Given the description of an element on the screen output the (x, y) to click on. 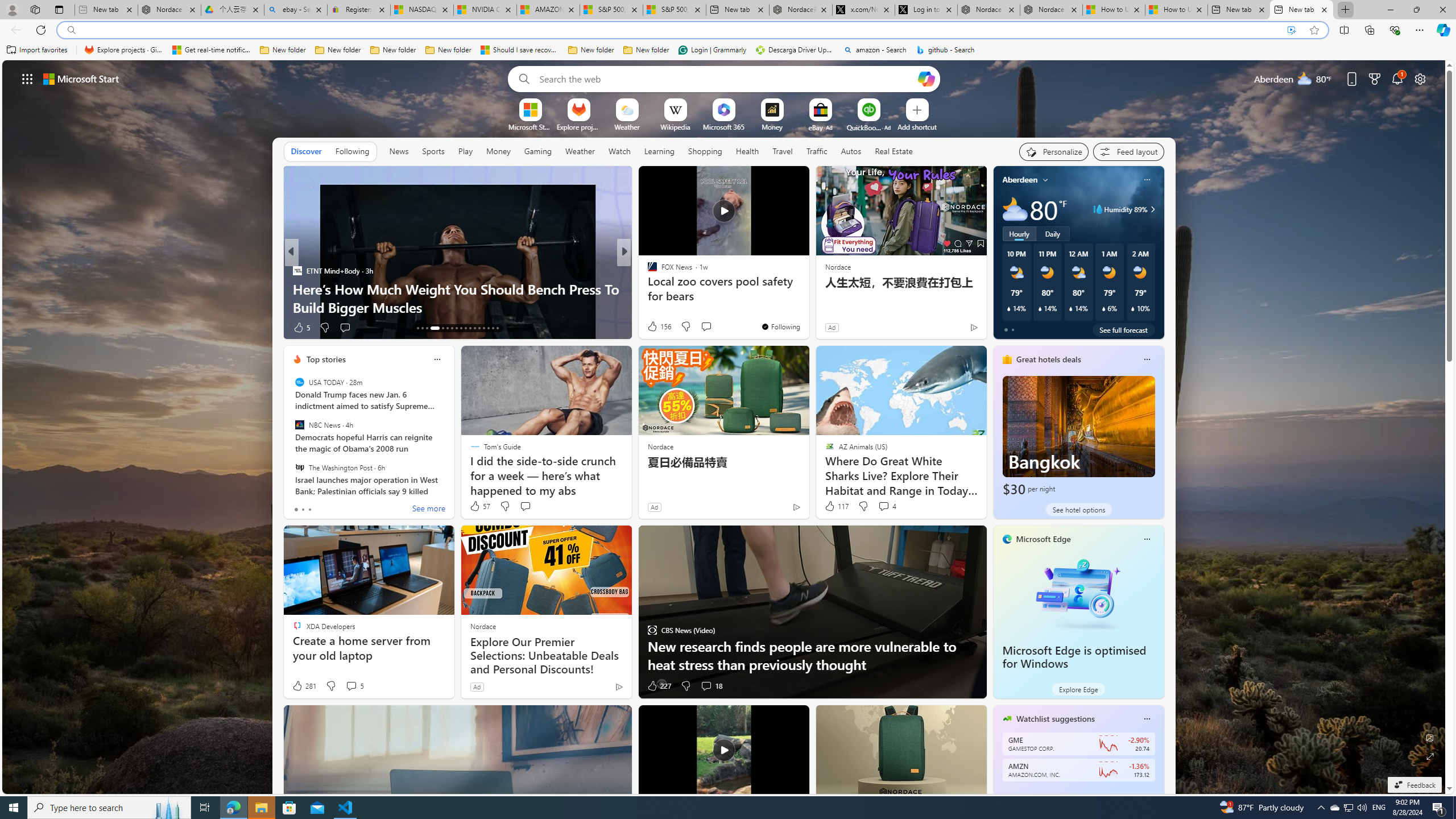
Daily (1052, 233)
Hourly (1018, 233)
Page settings (1420, 78)
Wikipedia (675, 126)
How To Make Laptop Screen Brighter Than Max? (807, 307)
Travel (782, 151)
View comments 5 Comment (350, 685)
12 Like (652, 327)
Mostly cloudy (1014, 208)
156 Like (658, 326)
Bangkok (1077, 436)
